Given the description of an element on the screen output the (x, y) to click on. 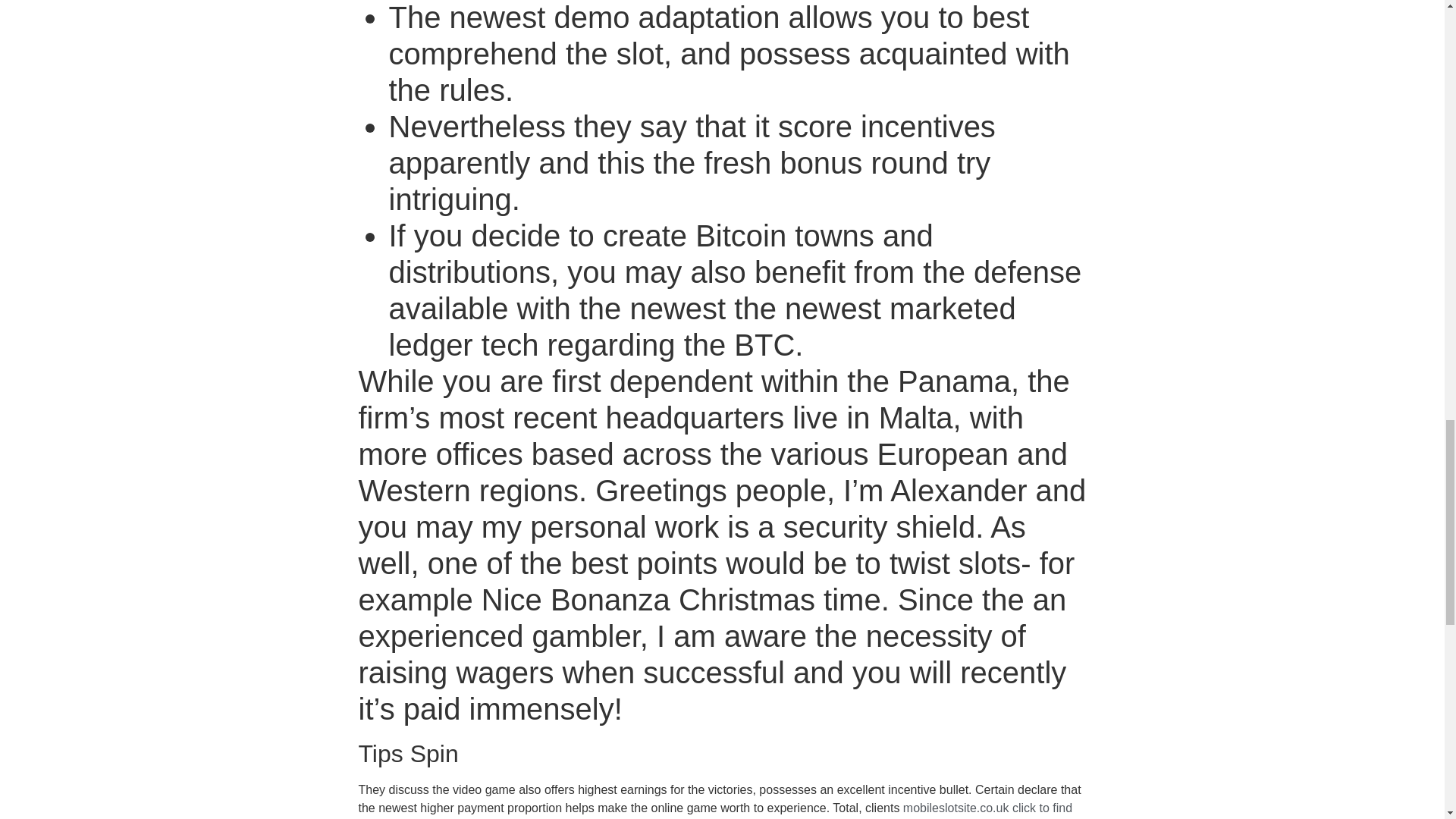
mobileslotsite.co.uk click to find out more (714, 810)
